Given the description of an element on the screen output the (x, y) to click on. 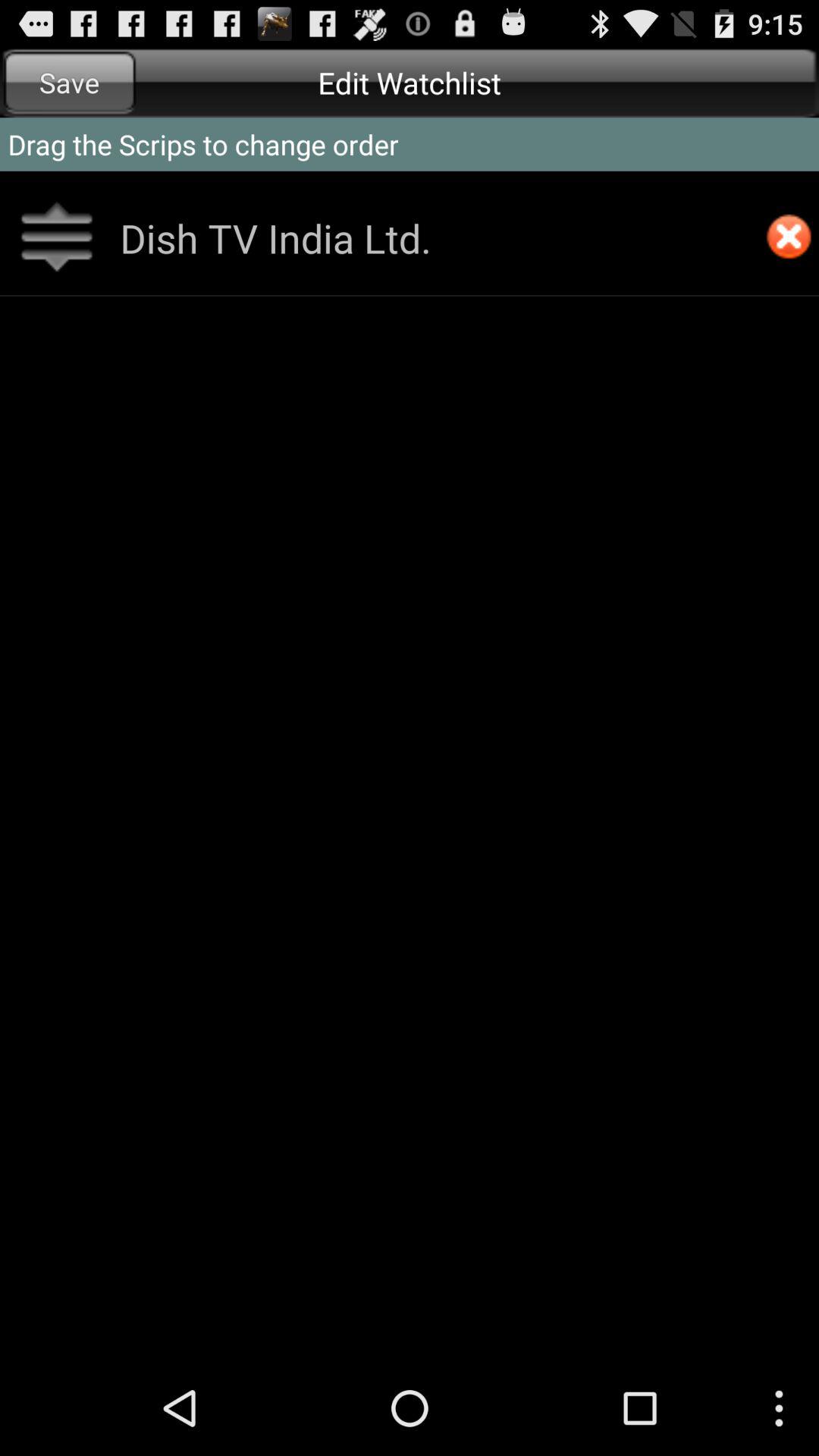
select delete option (788, 238)
